Given the description of an element on the screen output the (x, y) to click on. 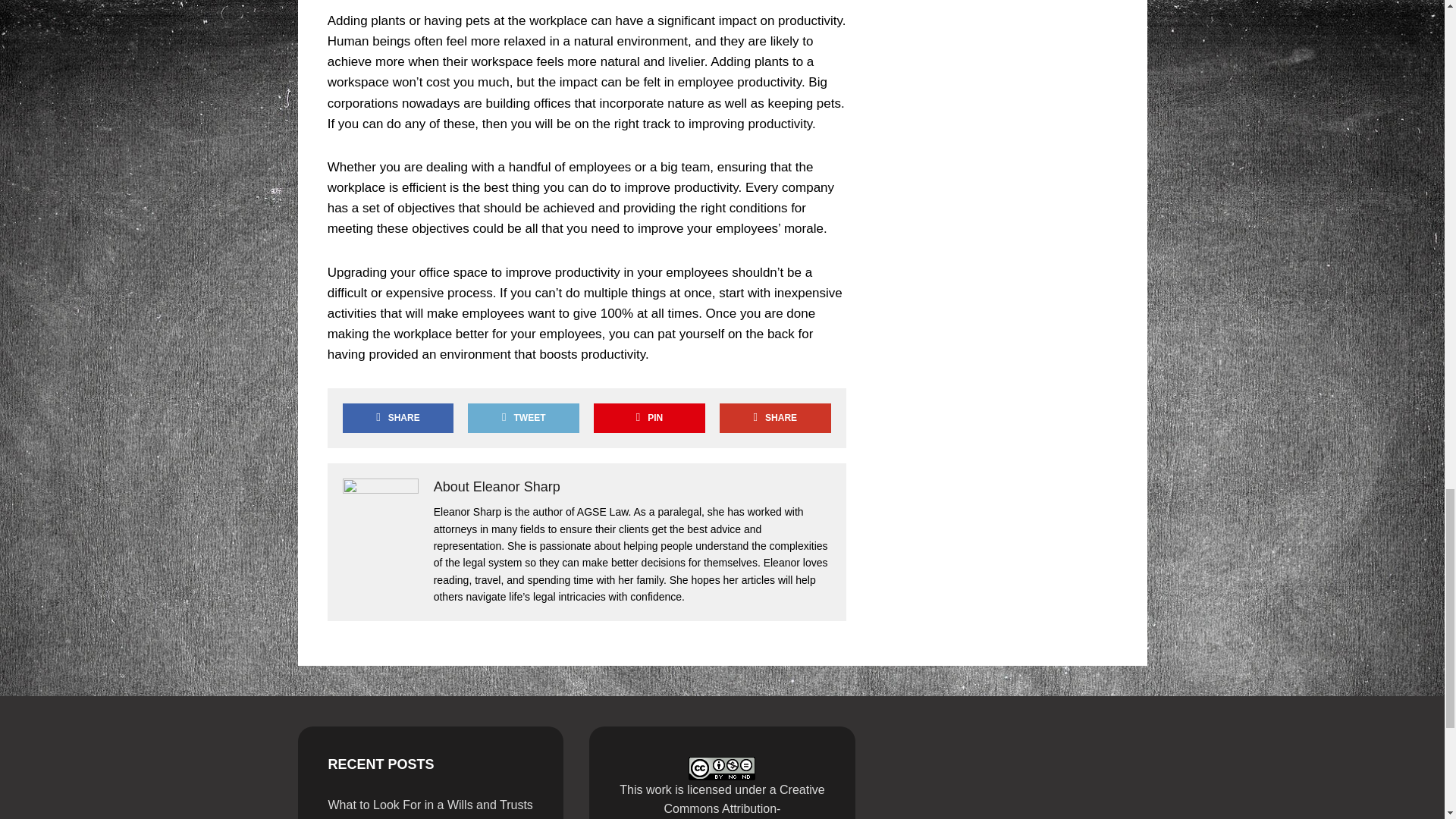
Share on Facebook (397, 418)
SHARE (397, 418)
What to Look For in a Wills and Trusts Lawyer (429, 808)
SHARE (774, 418)
Pin This Post (649, 418)
About Eleanor Sharp (496, 486)
TWEET (522, 418)
Tweet This Post (522, 418)
PIN (649, 418)
